Given the description of an element on the screen output the (x, y) to click on. 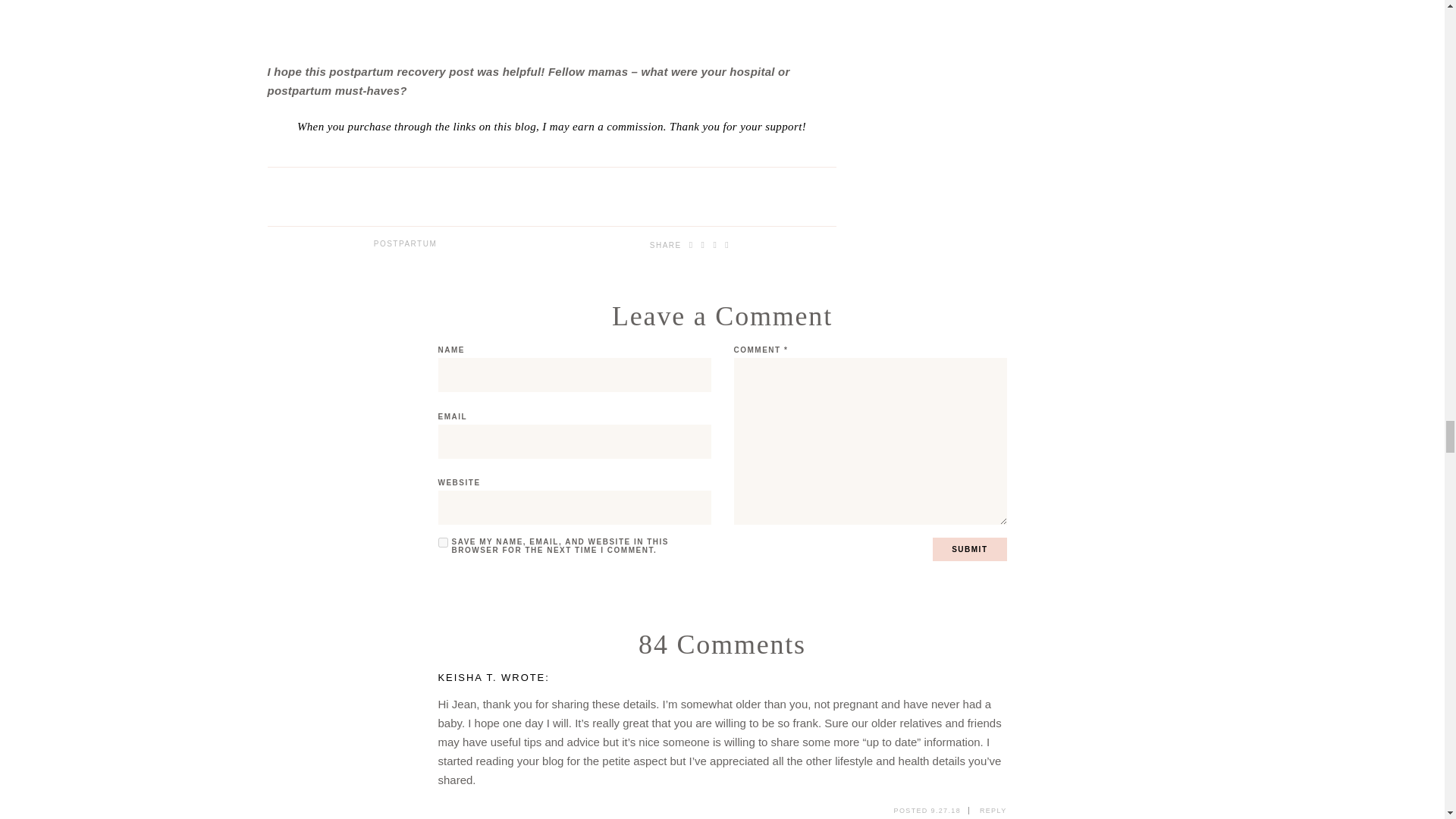
yes (443, 542)
View all posts in Postpartum (406, 243)
Submit (969, 549)
